Given the description of an element on the screen output the (x, y) to click on. 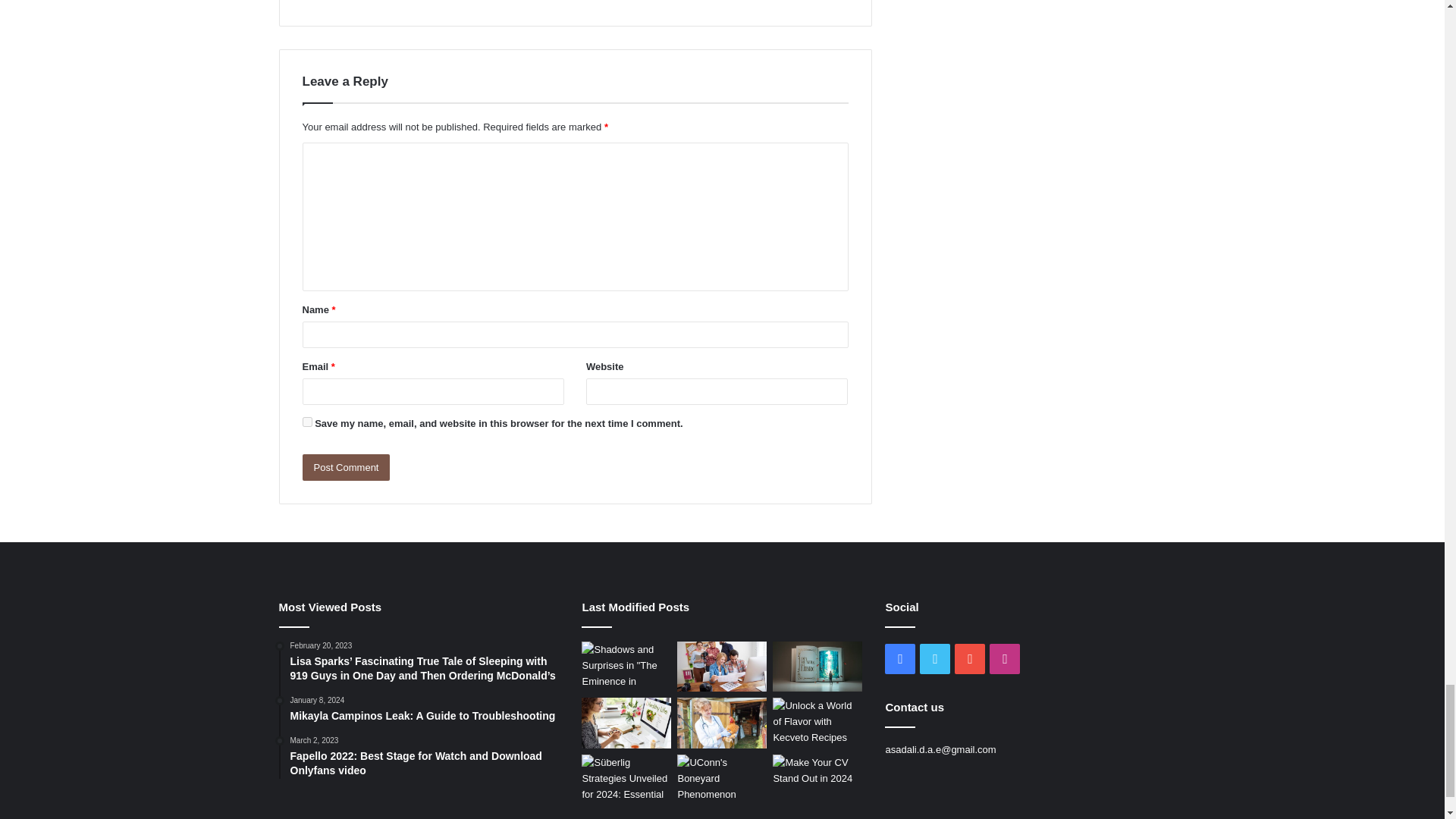
Post Comment (345, 467)
yes (306, 421)
